Given the description of an element on the screen output the (x, y) to click on. 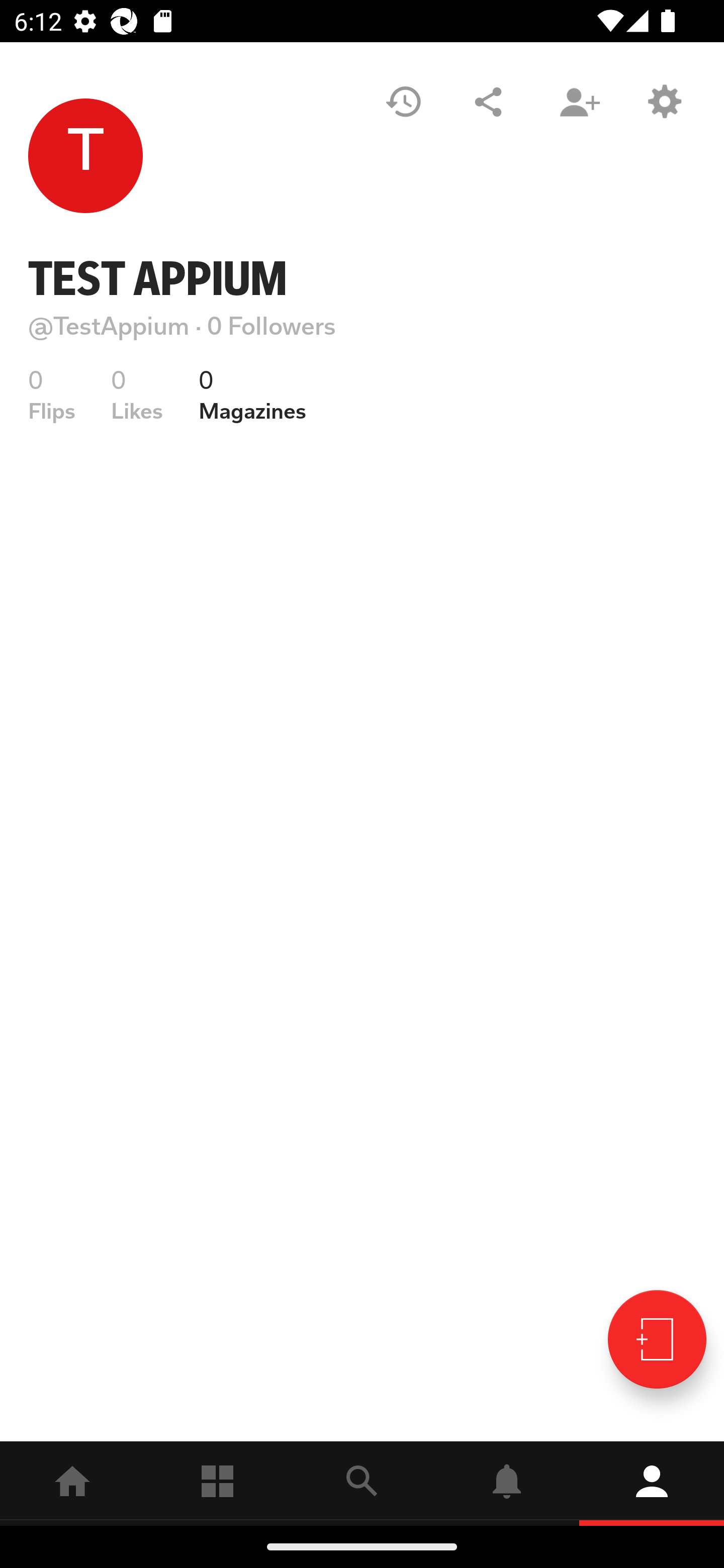
Share (487, 101)
Find Friends (579, 101)
Settings (663, 101)
TEST APPIUM (157, 277)
@TestAppium (108, 325)
0 Followers (271, 325)
0 Flips (51, 393)
0 Likes (137, 393)
0 Magazines (252, 393)
home (72, 1482)
Following (216, 1482)
explore (361, 1482)
Notifications (506, 1482)
Profile (651, 1482)
